Given the description of an element on the screen output the (x, y) to click on. 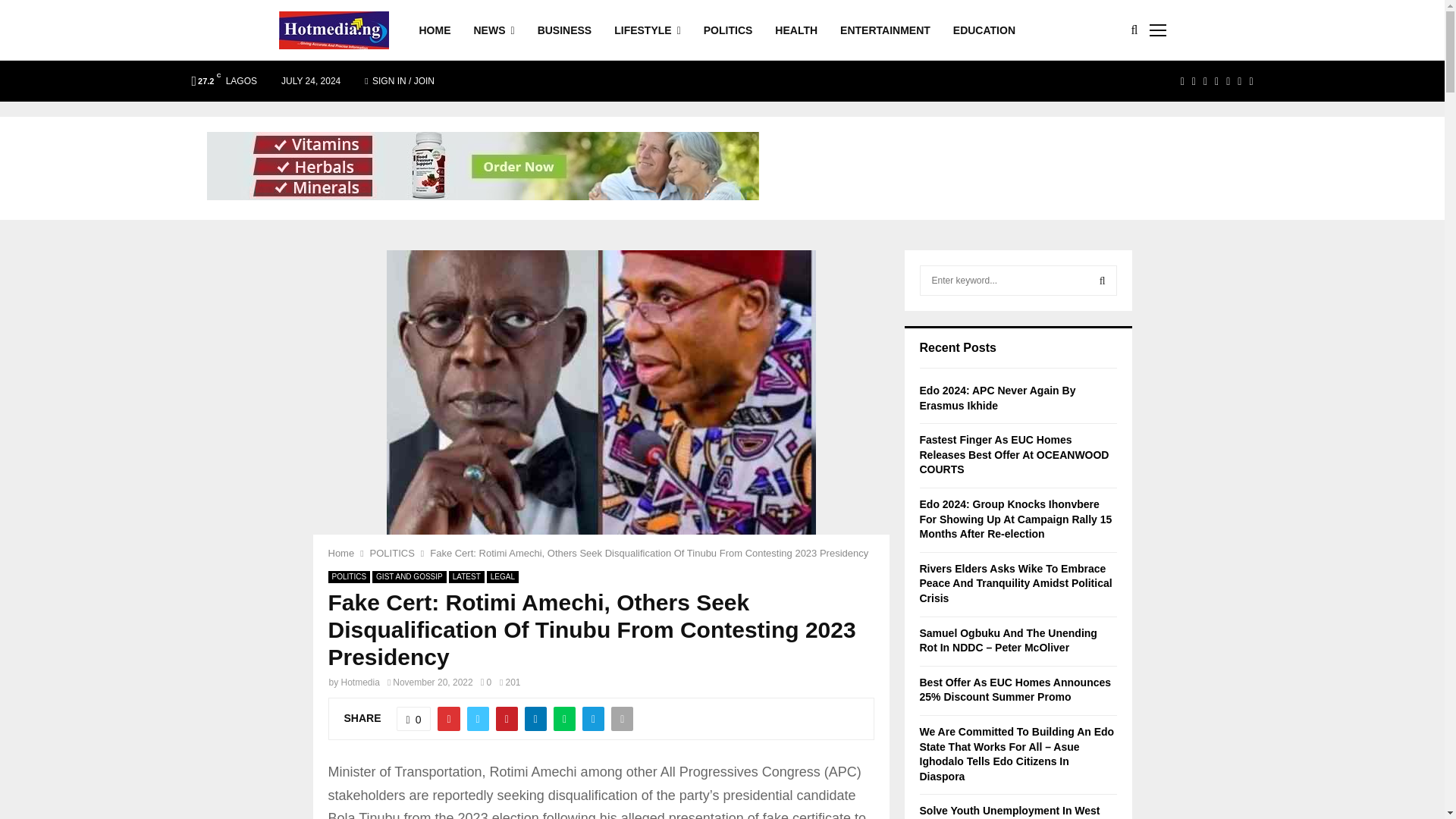
Login to your account (722, 339)
BUSINESS (564, 30)
POLITICS (391, 552)
Facebook (1182, 80)
YOUTUBE (1227, 80)
LIFESTYLE (647, 30)
POLITICS (727, 30)
Sign up new account (722, 458)
Youtube (1227, 80)
EDUCATION (983, 30)
Email (1239, 80)
FACEBOOK (1182, 80)
NEWS (493, 30)
